Given the description of an element on the screen output the (x, y) to click on. 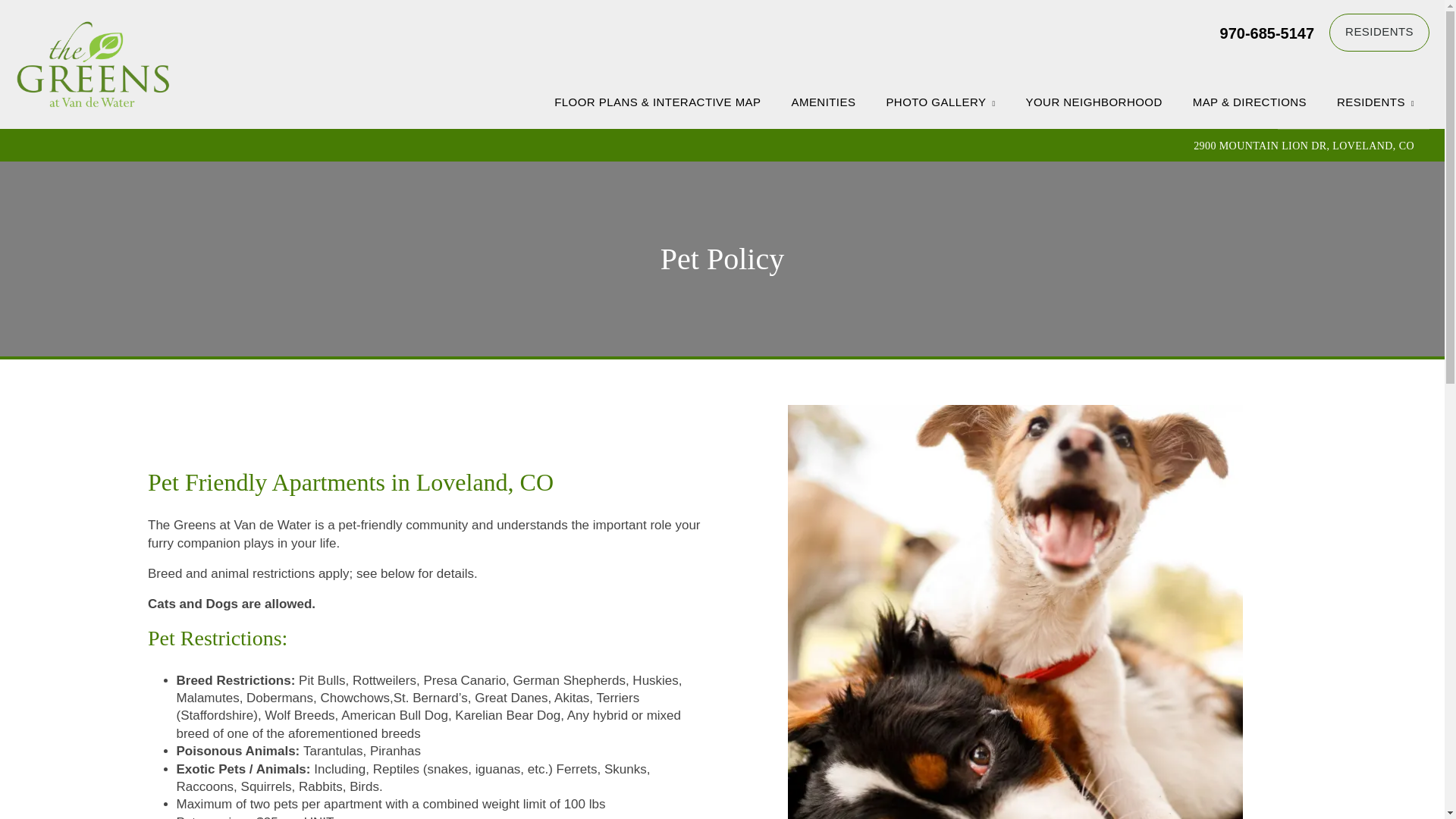
DISCLOSURES (1353, 105)
970-685-5147 (1267, 31)
RESIDENTS (1375, 102)
Property Phone Number (1267, 31)
YOUR NEIGHBORHOOD (1093, 102)
RESIDENTS (1379, 32)
AMENITIES (823, 102)
PHOTO GALLERY (940, 102)
VIRTUAL TOUR (946, 105)
